Given the description of an element on the screen output the (x, y) to click on. 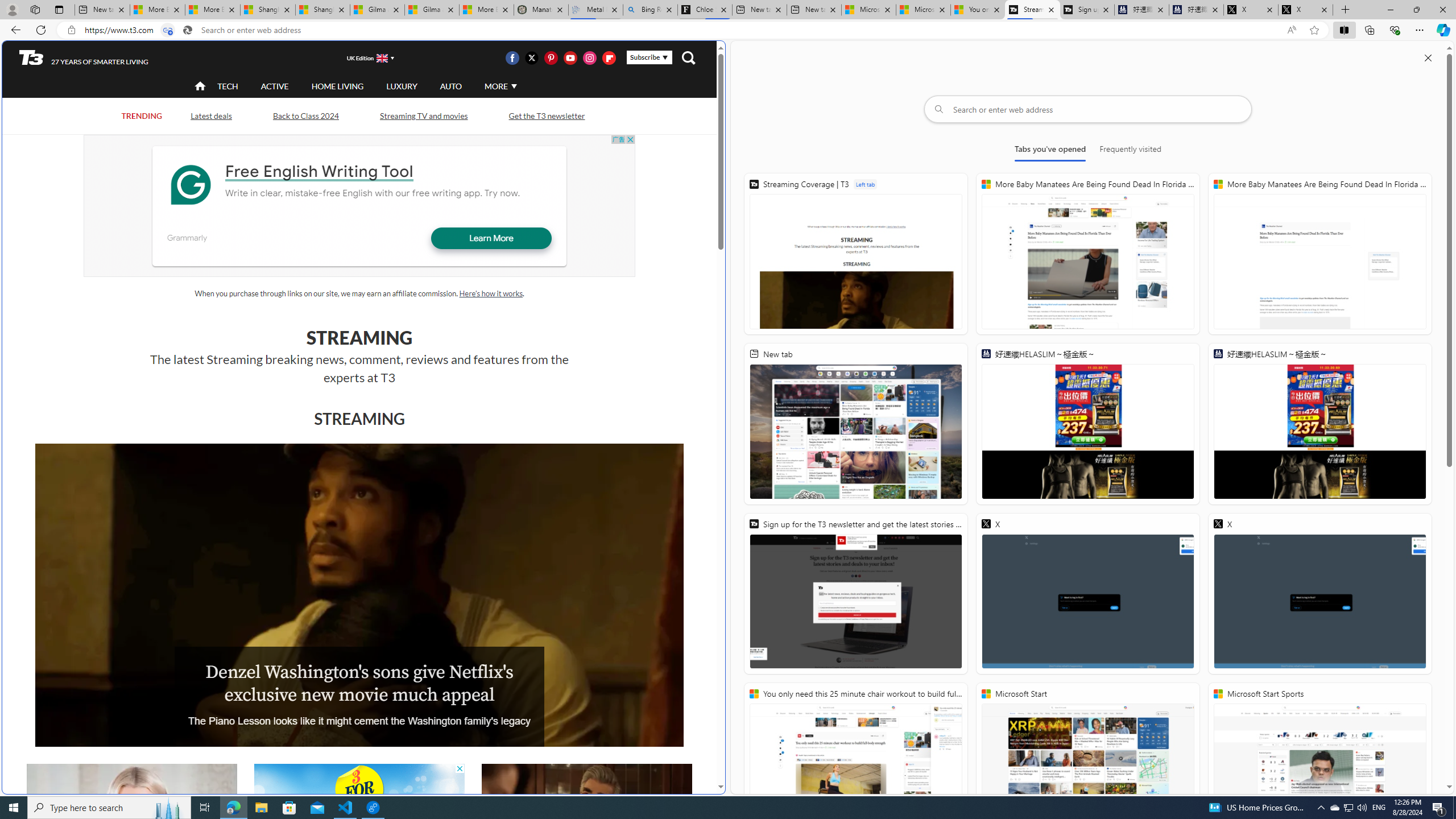
home (200, 86)
T3 27 YEARS OF SMARTER LIVING (83, 57)
Back to Class 2024 (305, 115)
